Given the description of an element on the screen output the (x, y) to click on. 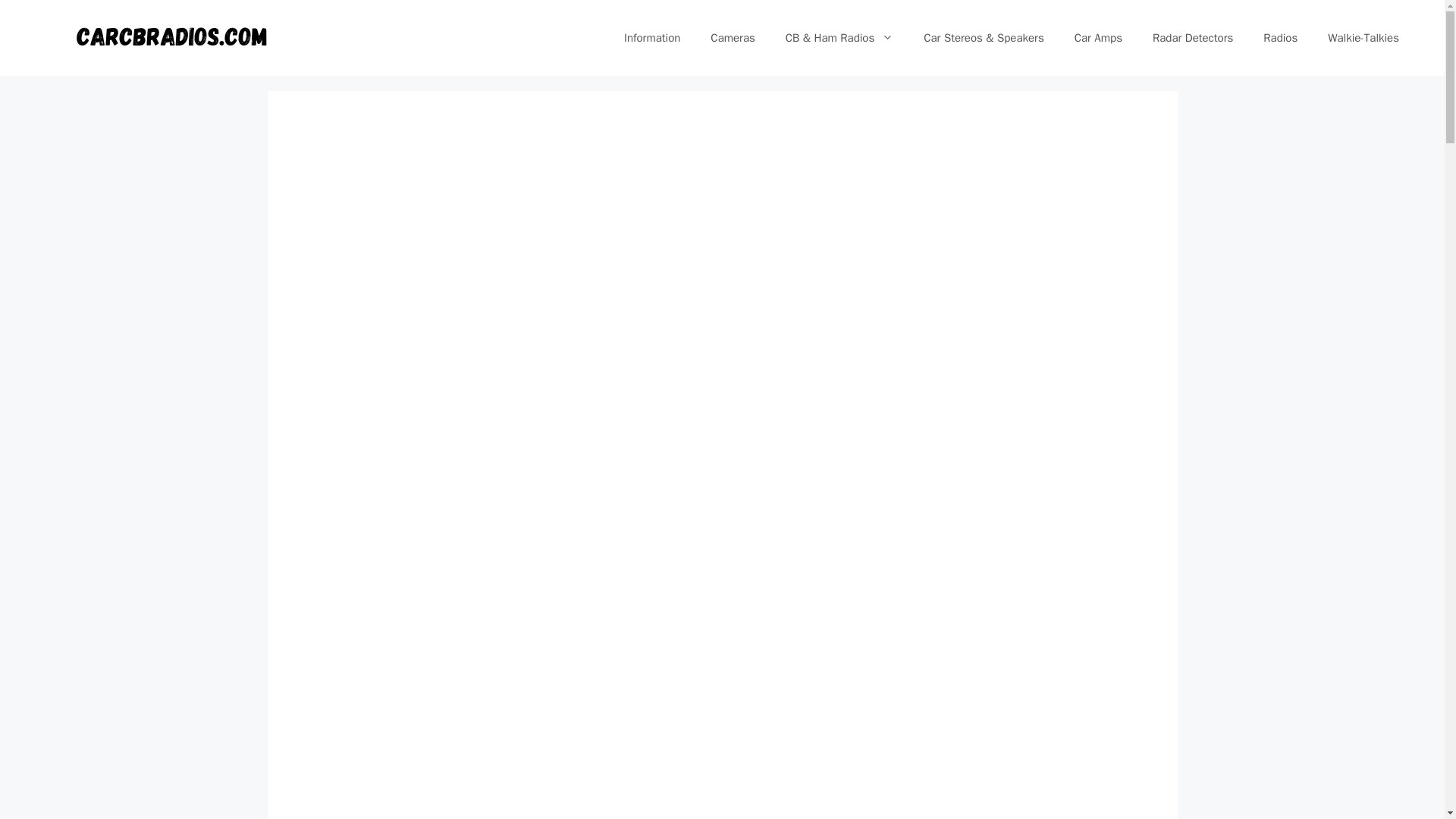
Walkie-Talkies (1363, 37)
Information (651, 37)
Radios (1280, 37)
Radar Detectors (1192, 37)
Cameras (732, 37)
Car Amps (1098, 37)
